Given the description of an element on the screen output the (x, y) to click on. 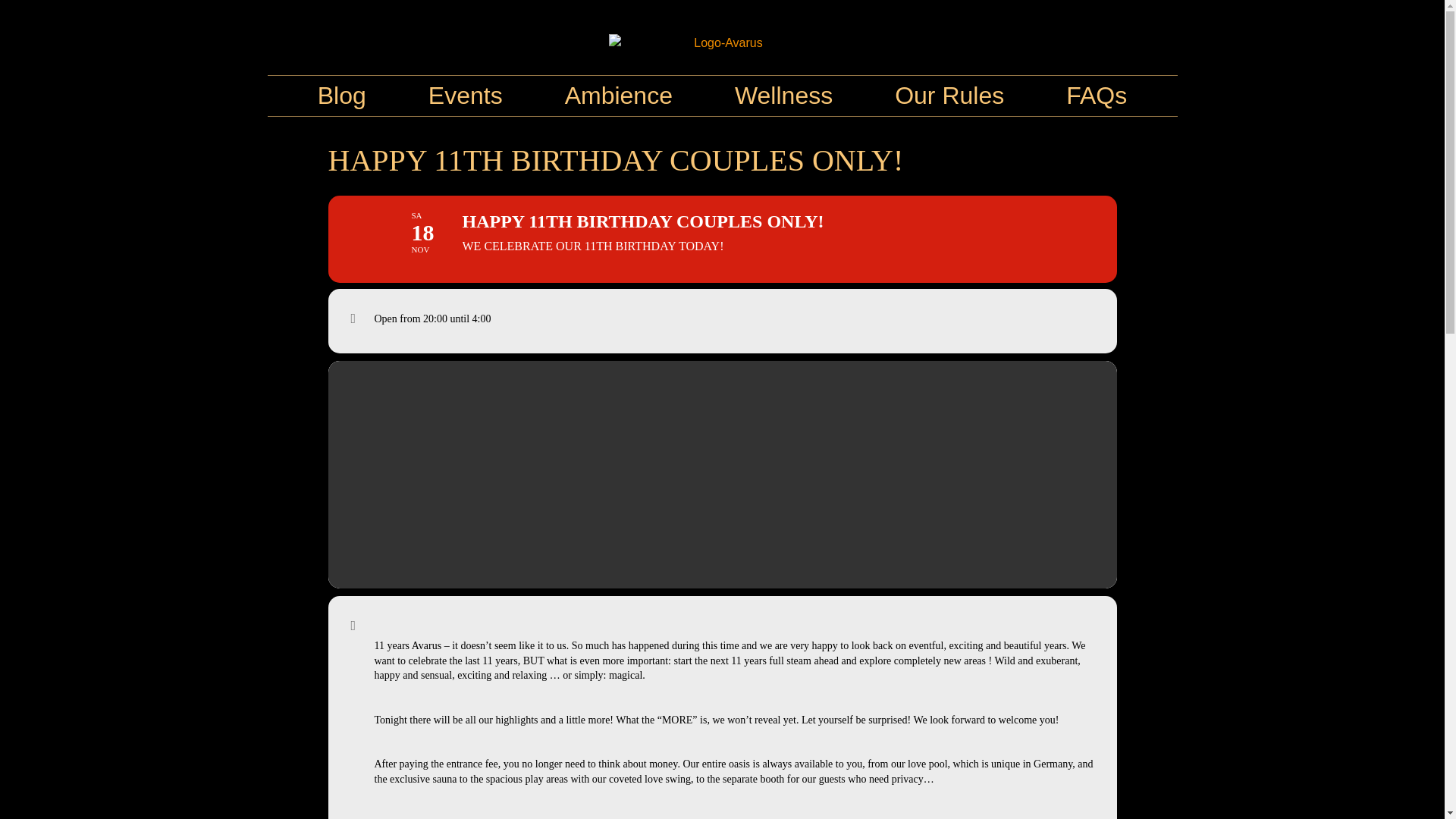
Ambience (618, 95)
FAQs (1096, 95)
Our Rules (949, 95)
Logo-Avarus (721, 43)
Events (465, 95)
Blog (341, 95)
Wellness (783, 95)
